Given the description of an element on the screen output the (x, y) to click on. 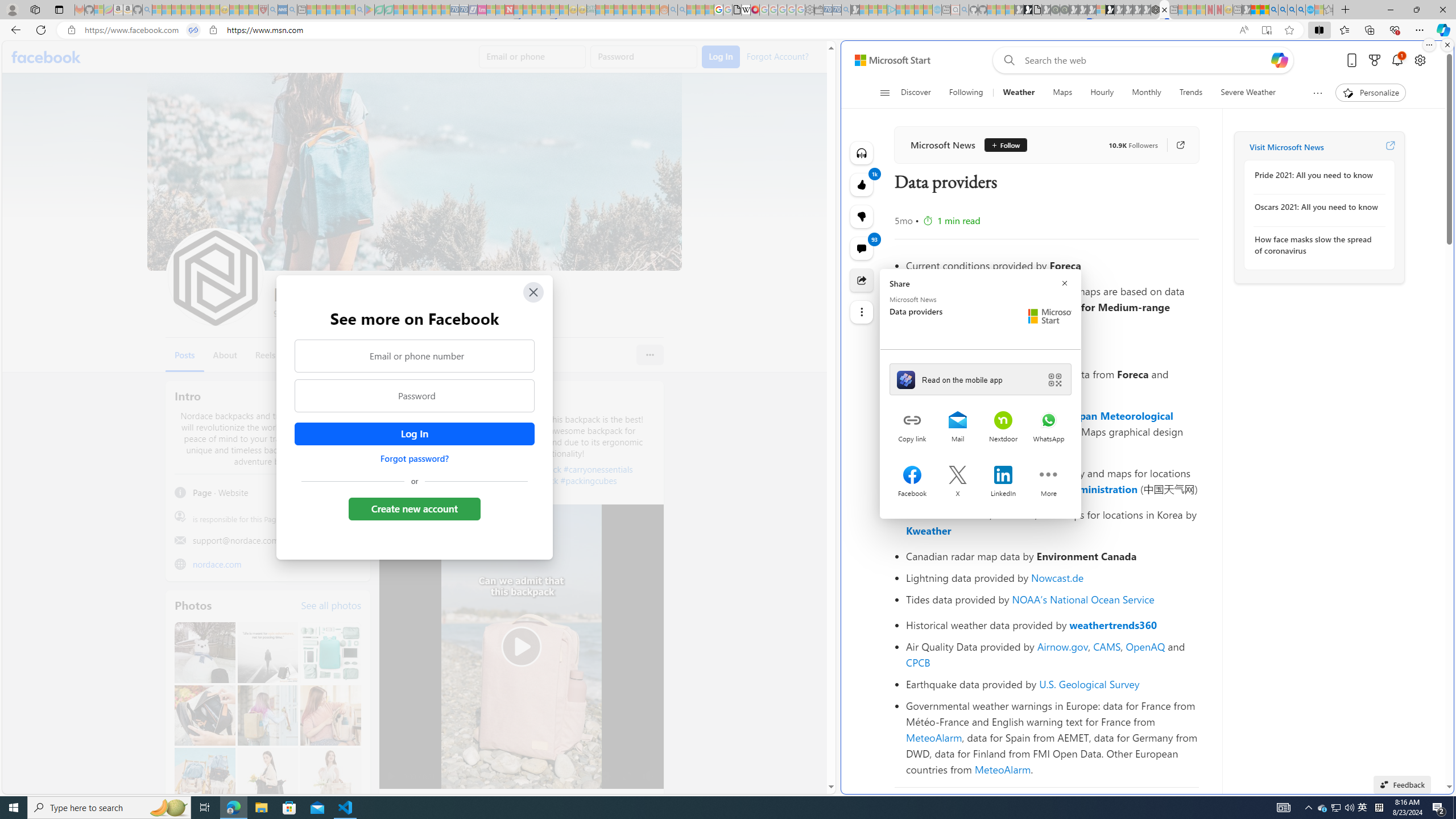
Show more topics (1316, 92)
Current conditions provided by Foreca (1051, 265)
U.S. Geological Survey (1089, 684)
Services - Maintenance | Sky Blue Bikes - Sky Blue Bikes (1309, 9)
Forgot Account? (776, 55)
Class: at-item (861, 312)
